Given the description of an element on the screen output the (x, y) to click on. 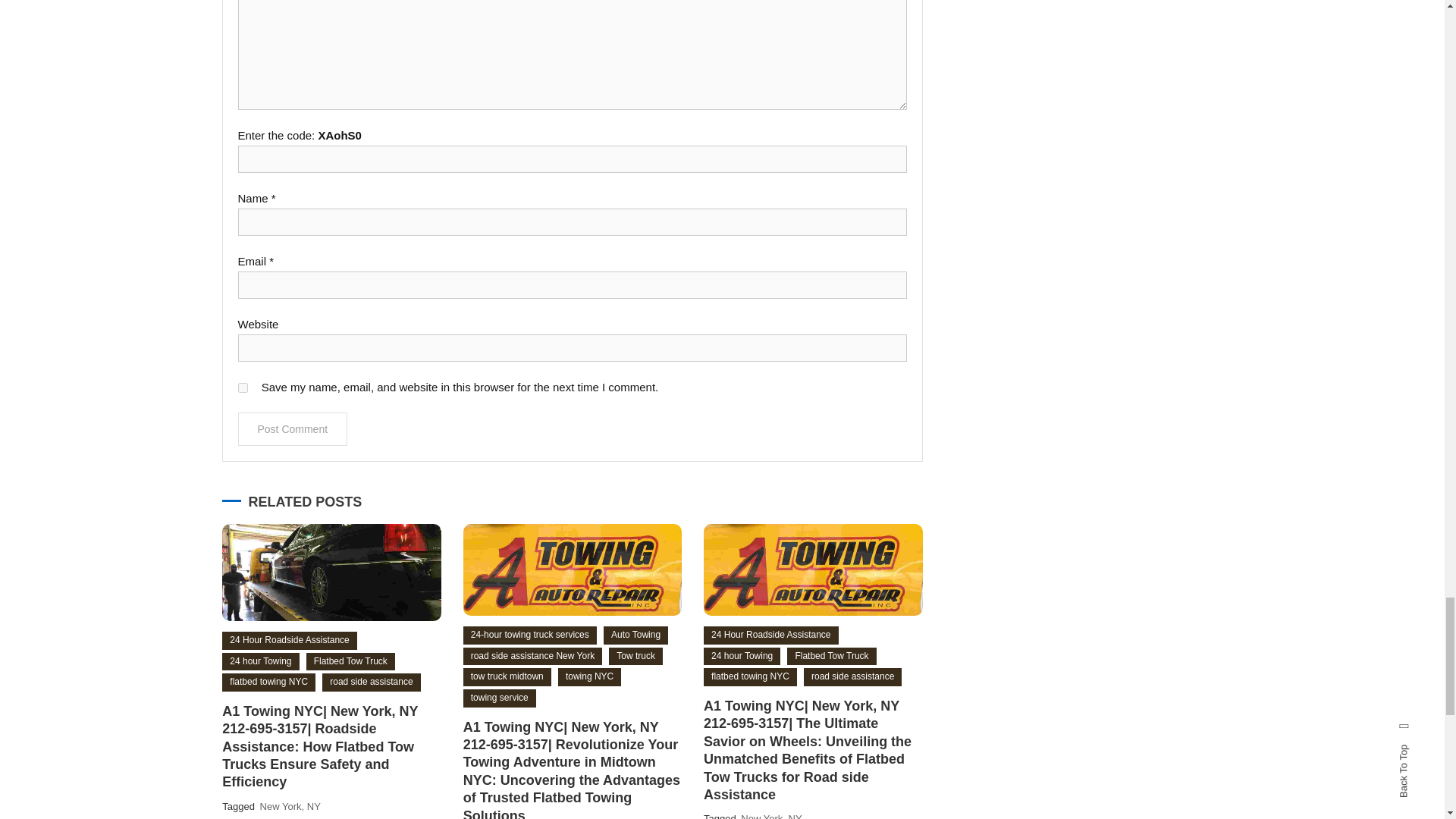
Post Comment (292, 428)
yes (242, 388)
